Given the description of an element on the screen output the (x, y) to click on. 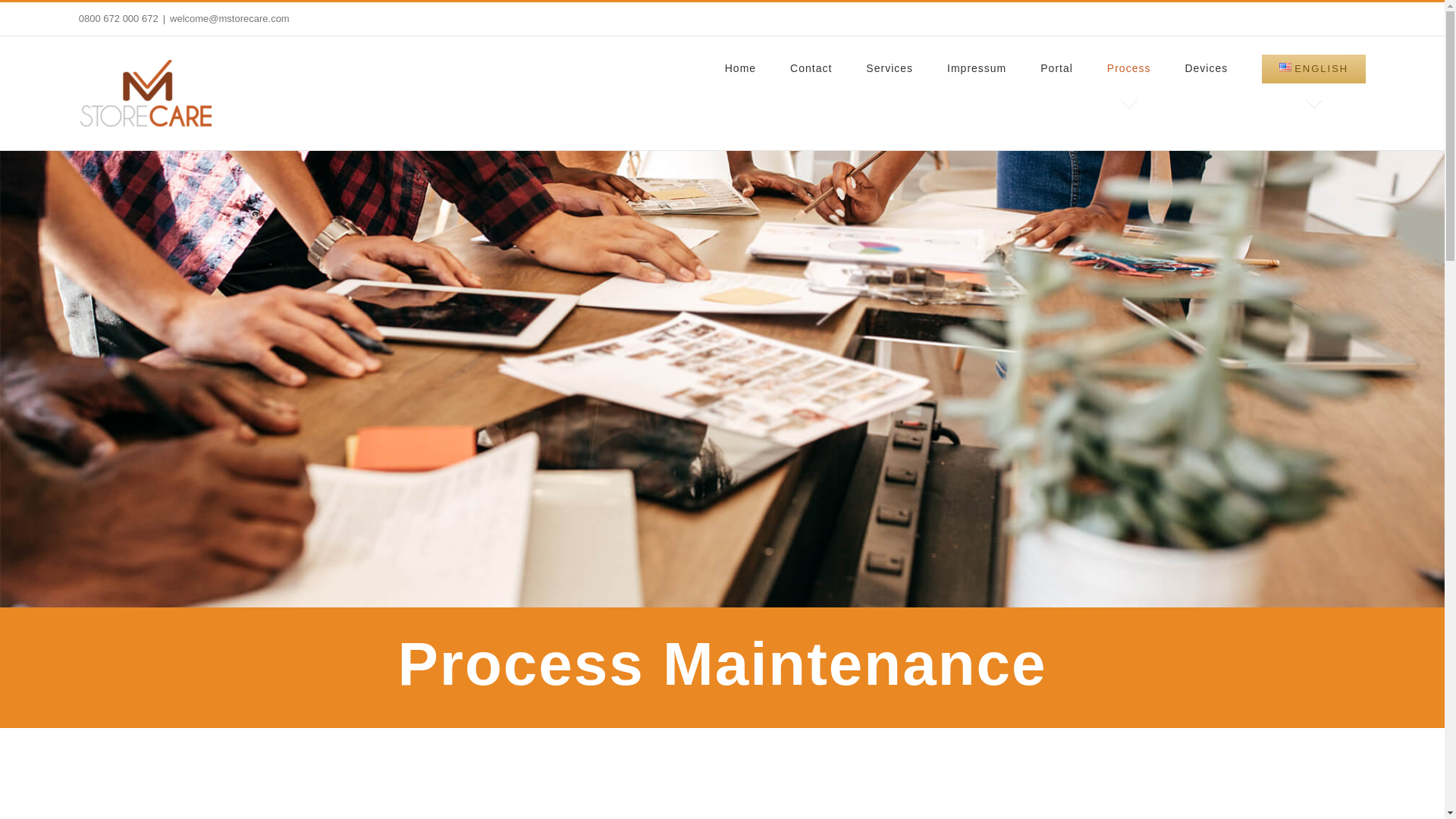
Impressum (976, 67)
English (1285, 67)
ENGLISH (1313, 67)
